Given the description of an element on the screen output the (x, y) to click on. 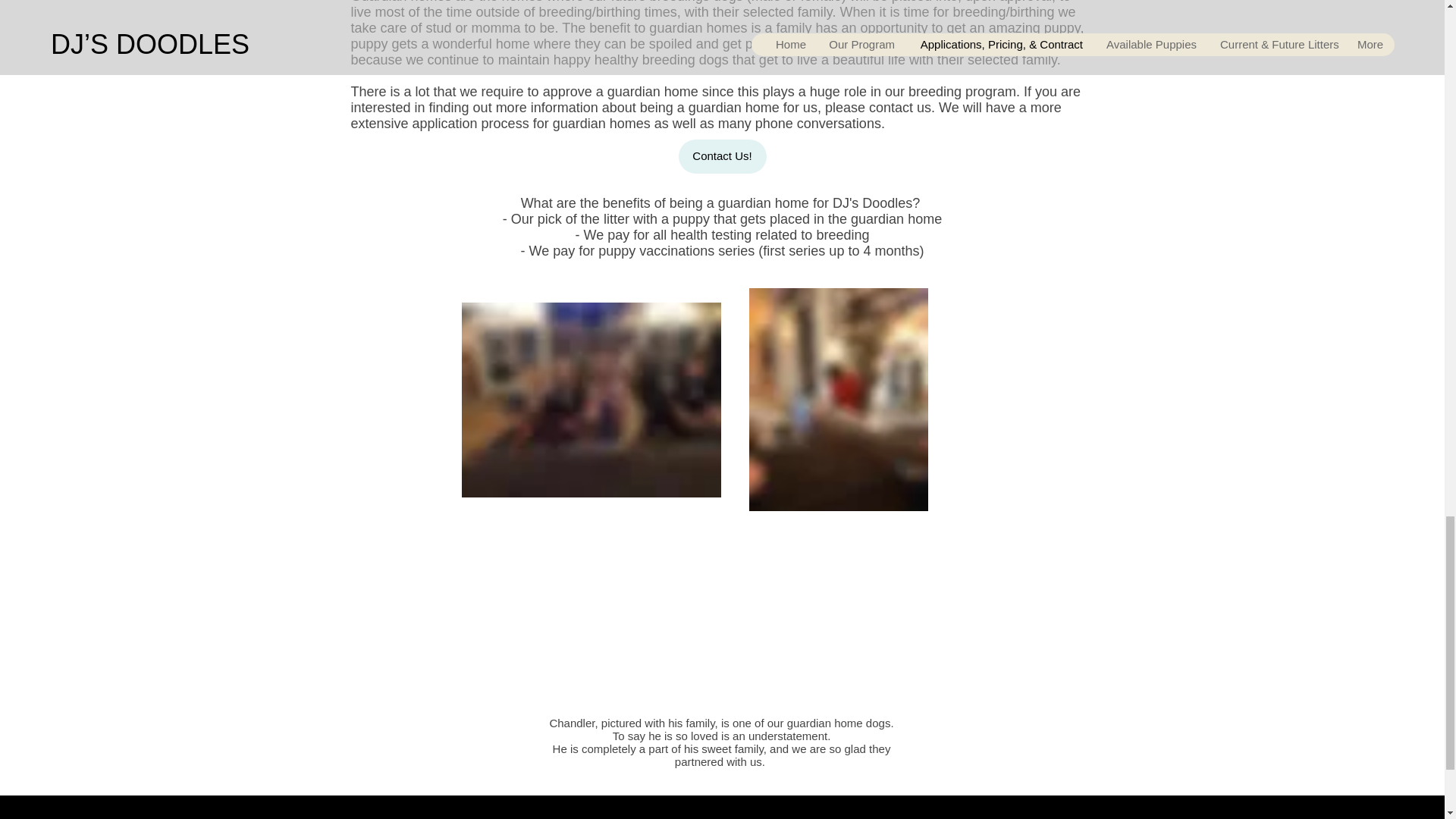
Contact Us! (721, 156)
